Given the description of an element on the screen output the (x, y) to click on. 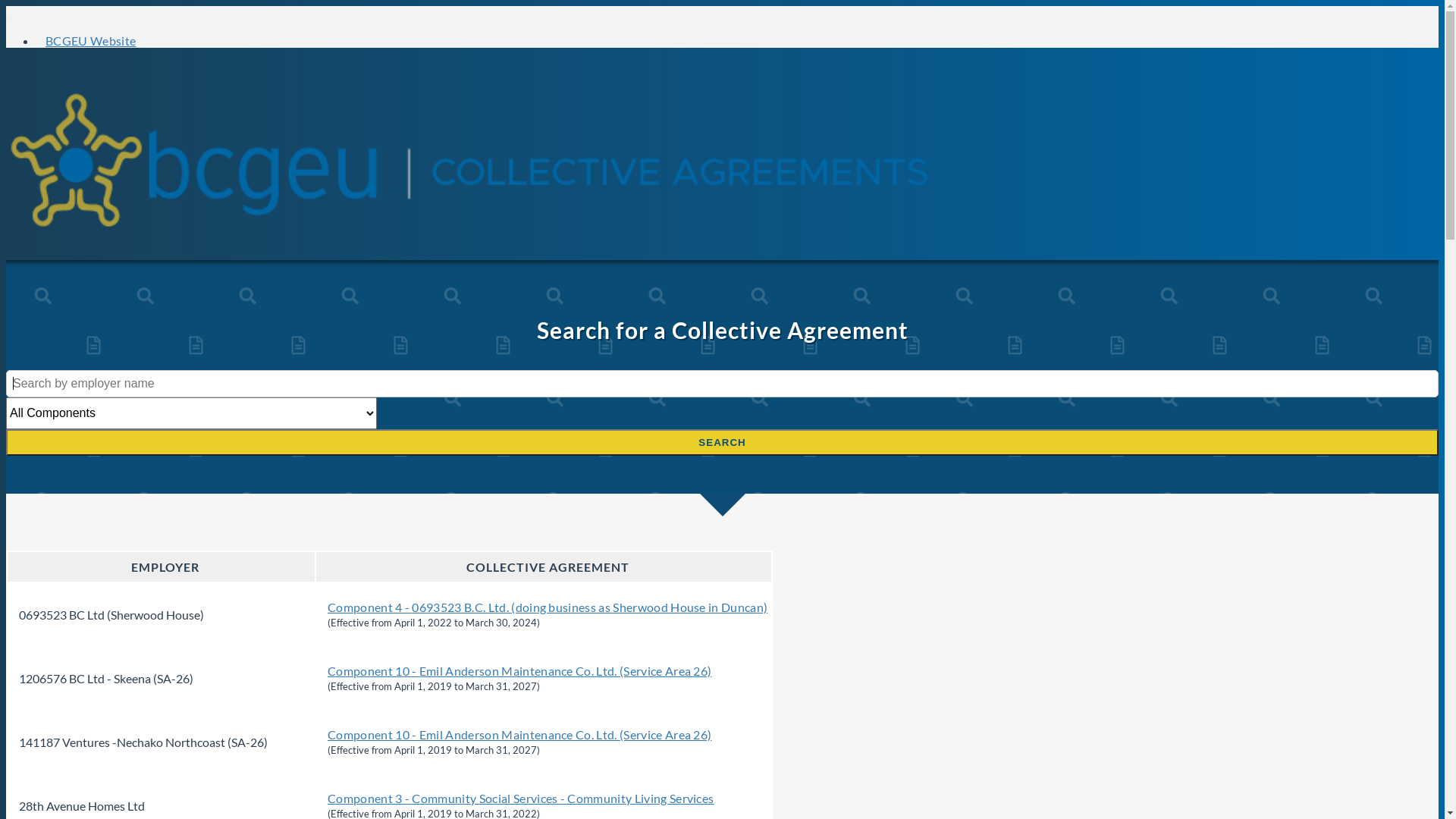
SEARCH Element type: text (722, 442)
BCGEU Website Element type: text (90, 40)
SEARCH Element type: text (722, 440)
